Given the description of an element on the screen output the (x, y) to click on. 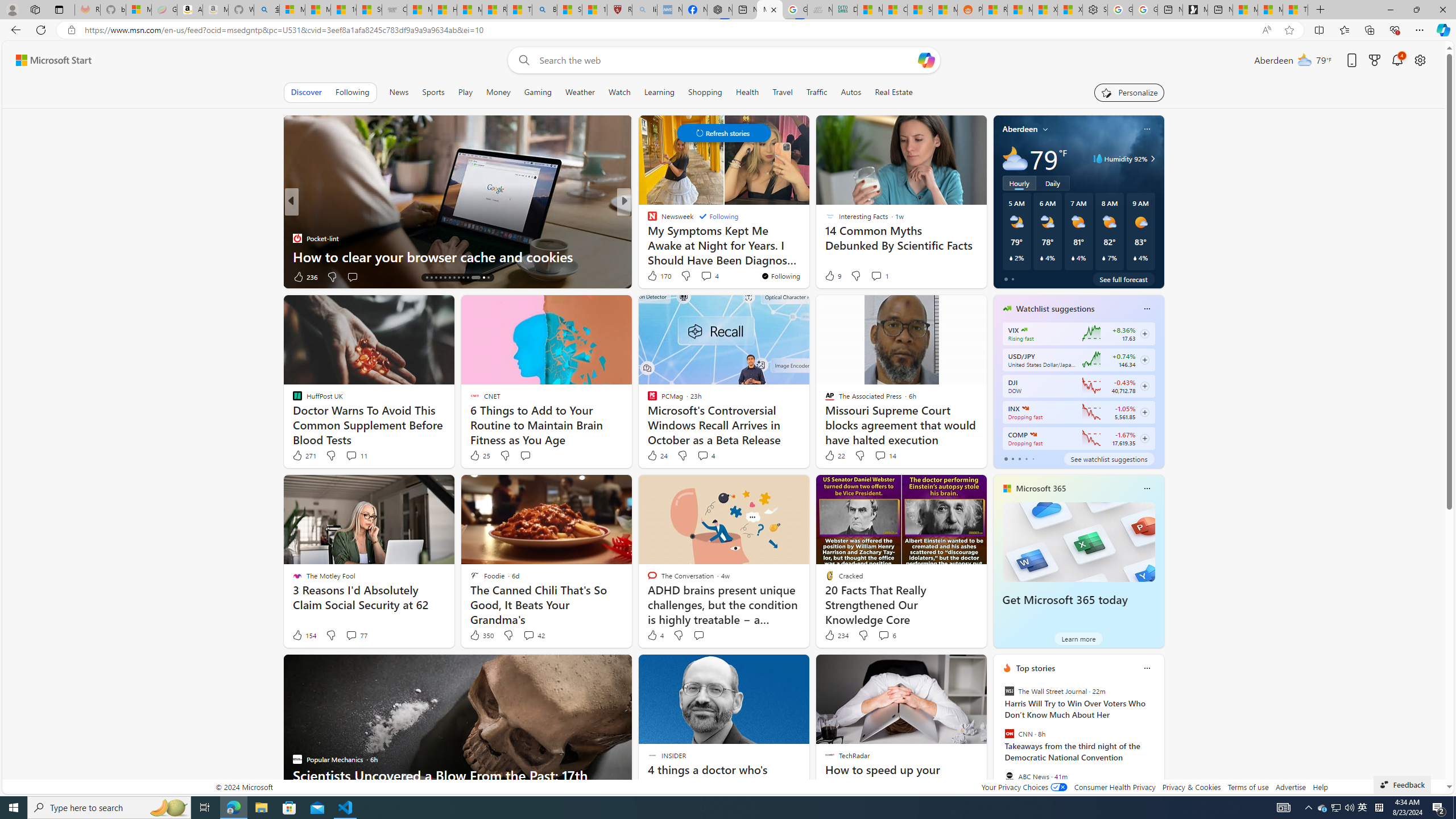
Nordace - Nordace Siena Is Not An Ordinary Backpack (718, 9)
Class: weather-current-precipitation-glyph (1134, 257)
View comments 6 Comment (883, 635)
View comments 4 Comment (705, 455)
View comments 77 Comment (355, 634)
View comments 73 Comment (6, 276)
Privacy & Cookies (1191, 786)
9 Like (831, 275)
These 3 Stocks Pay You More Than 5% to Own Them (1295, 9)
AutomationID: tab-22 (462, 277)
